Given the description of an element on the screen output the (x, y) to click on. 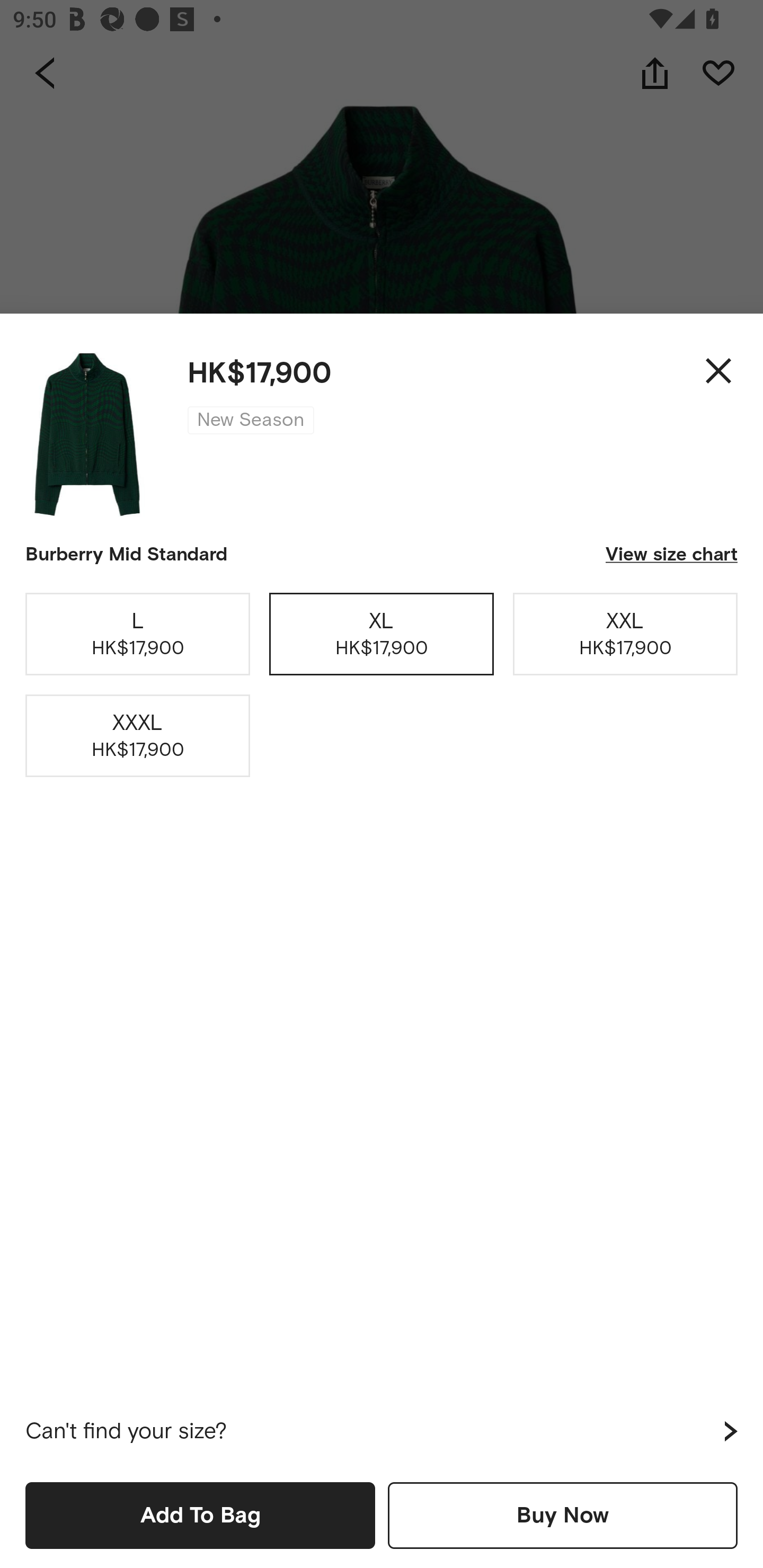
L HK$17,900 (137, 633)
XL HK$17,900 (381, 633)
XXL HK$17,900 (624, 633)
XXXL HK$17,900 (137, 735)
Can't find your size? (381, 1431)
Add To Bag (200, 1515)
Buy Now (562, 1515)
